Given the description of an element on the screen output the (x, y) to click on. 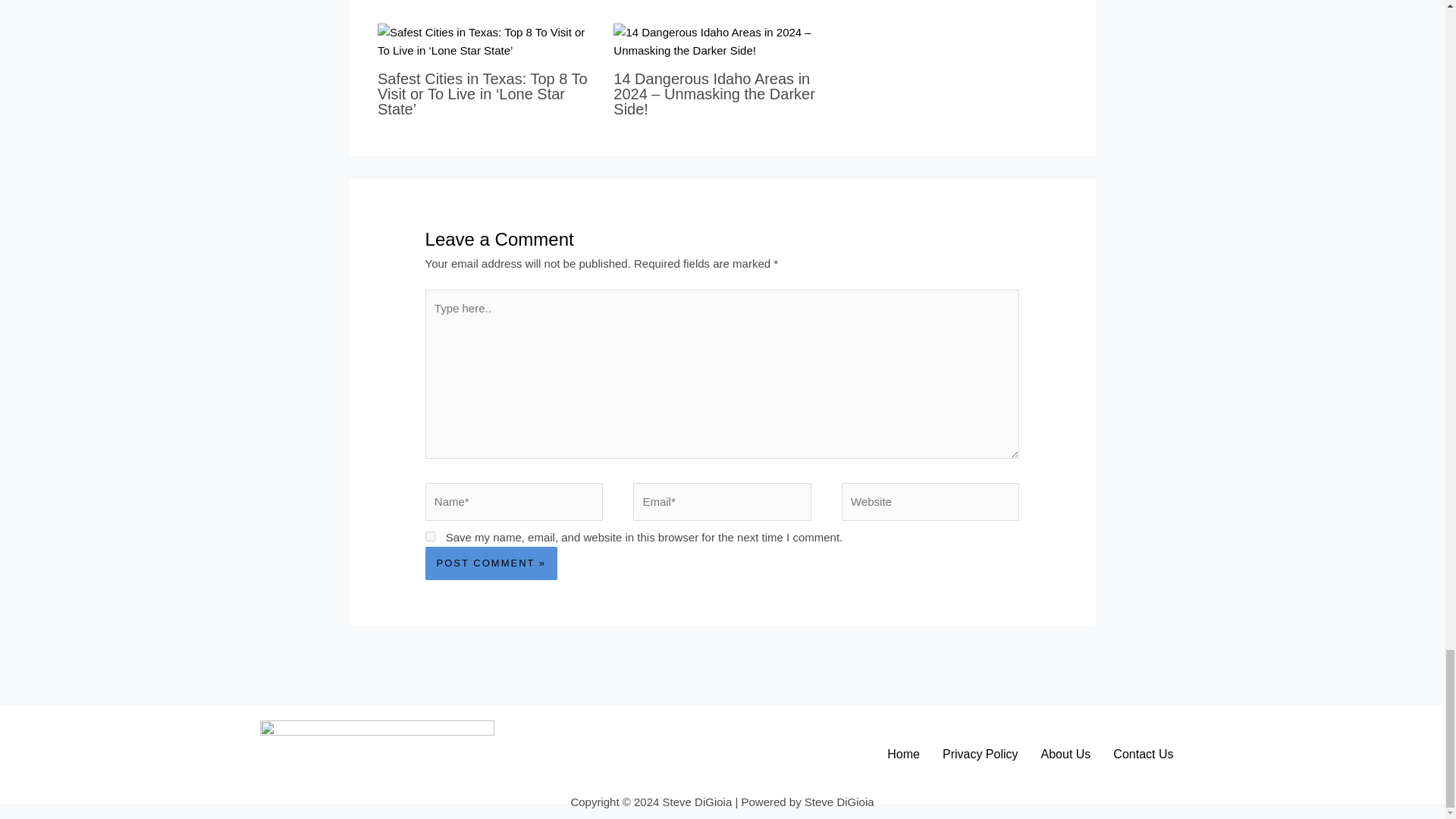
yes (430, 536)
